Given the description of an element on the screen output the (x, y) to click on. 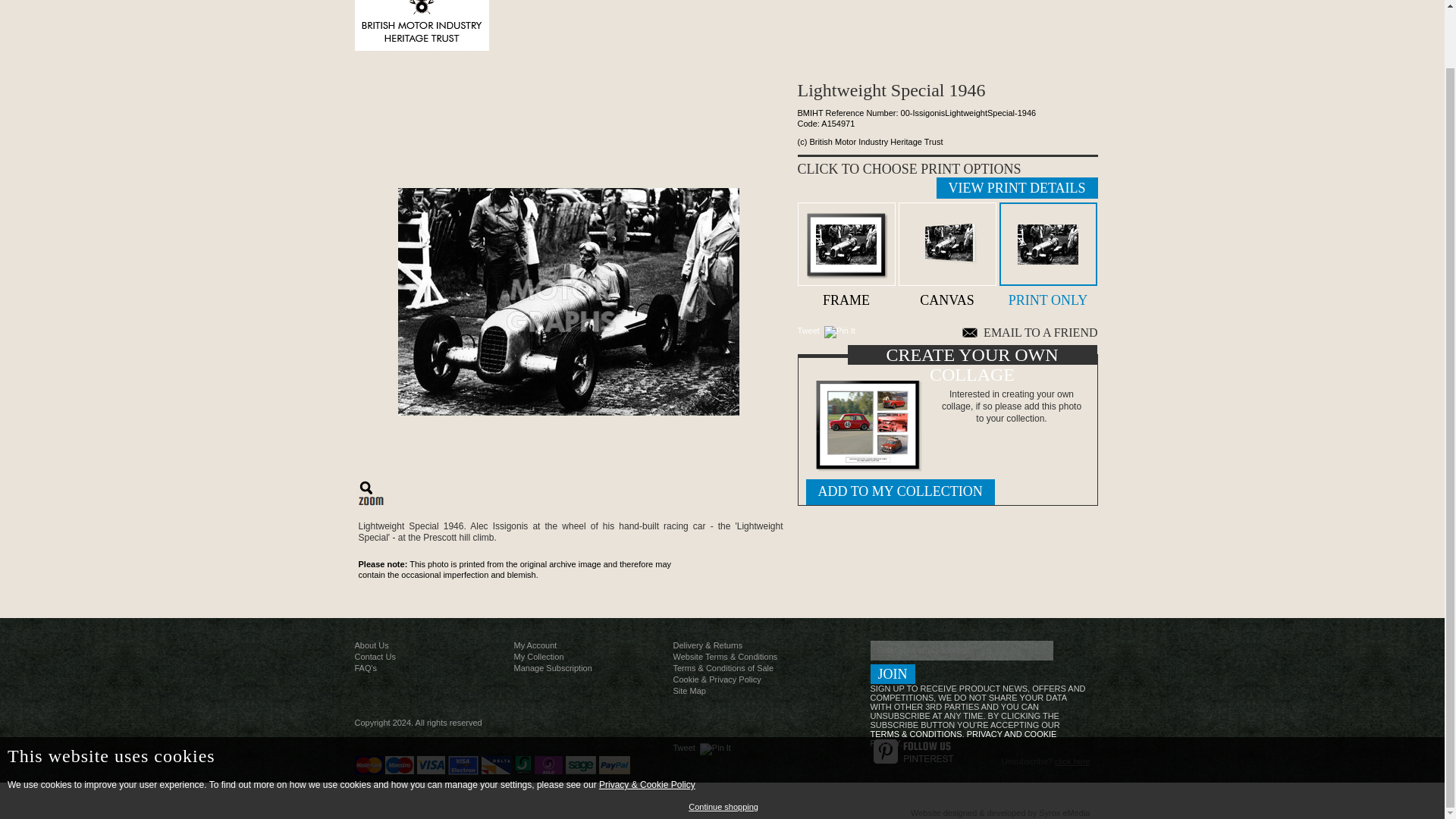
ADD TO MY COLLECTION (899, 492)
Pin It (840, 331)
VIEW PRINT DETAILS (1016, 188)
PRINT ONLY (1047, 253)
Pin It (715, 748)
Enter your email address (961, 650)
FRAME (846, 253)
EMAIL TO A FRIEND (1029, 332)
CANVAS (946, 253)
Tweet (808, 329)
